Given the description of an element on the screen output the (x, y) to click on. 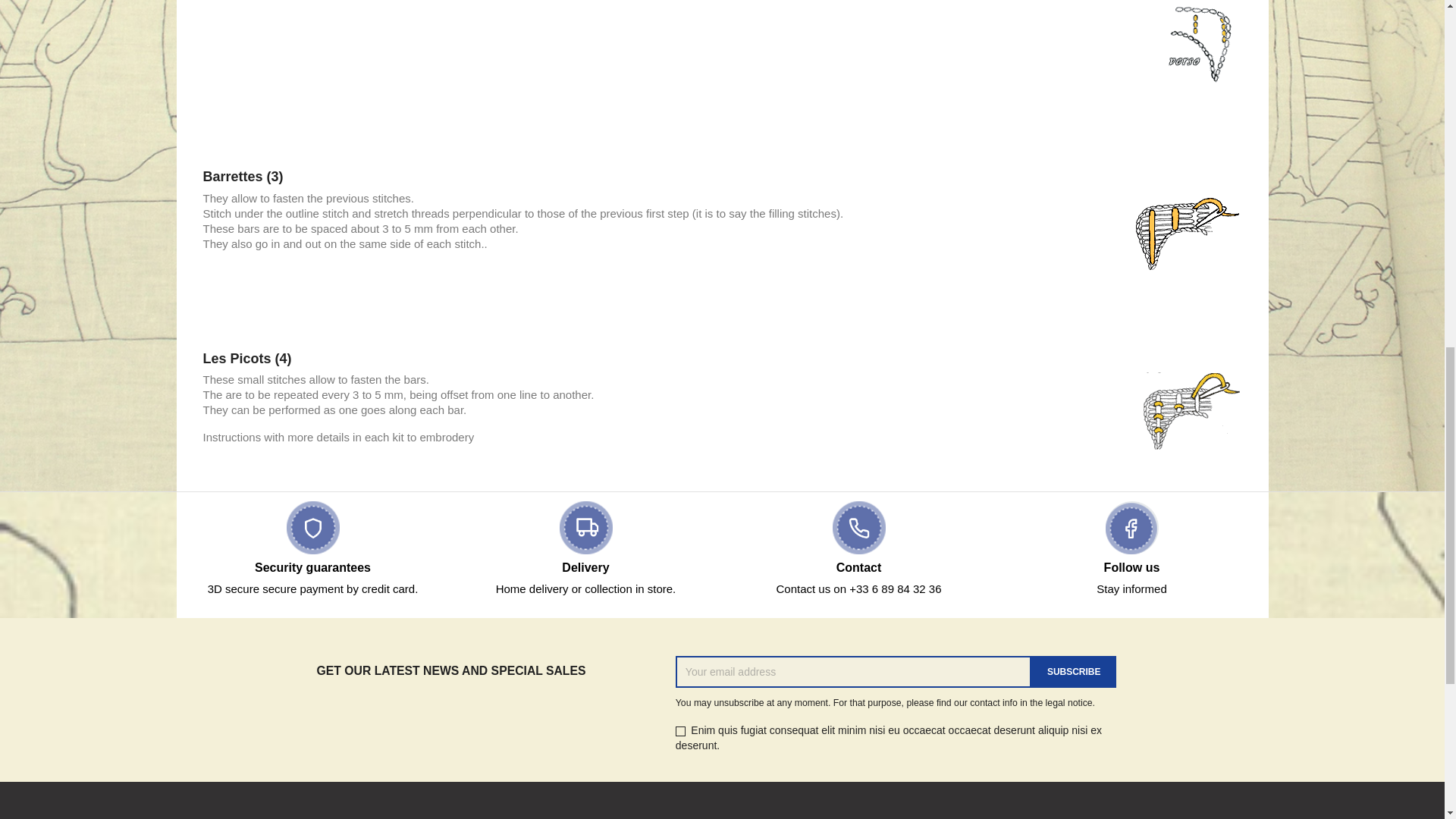
Subscribe (1073, 671)
Subscribe (1073, 671)
